Given the description of an element on the screen output the (x, y) to click on. 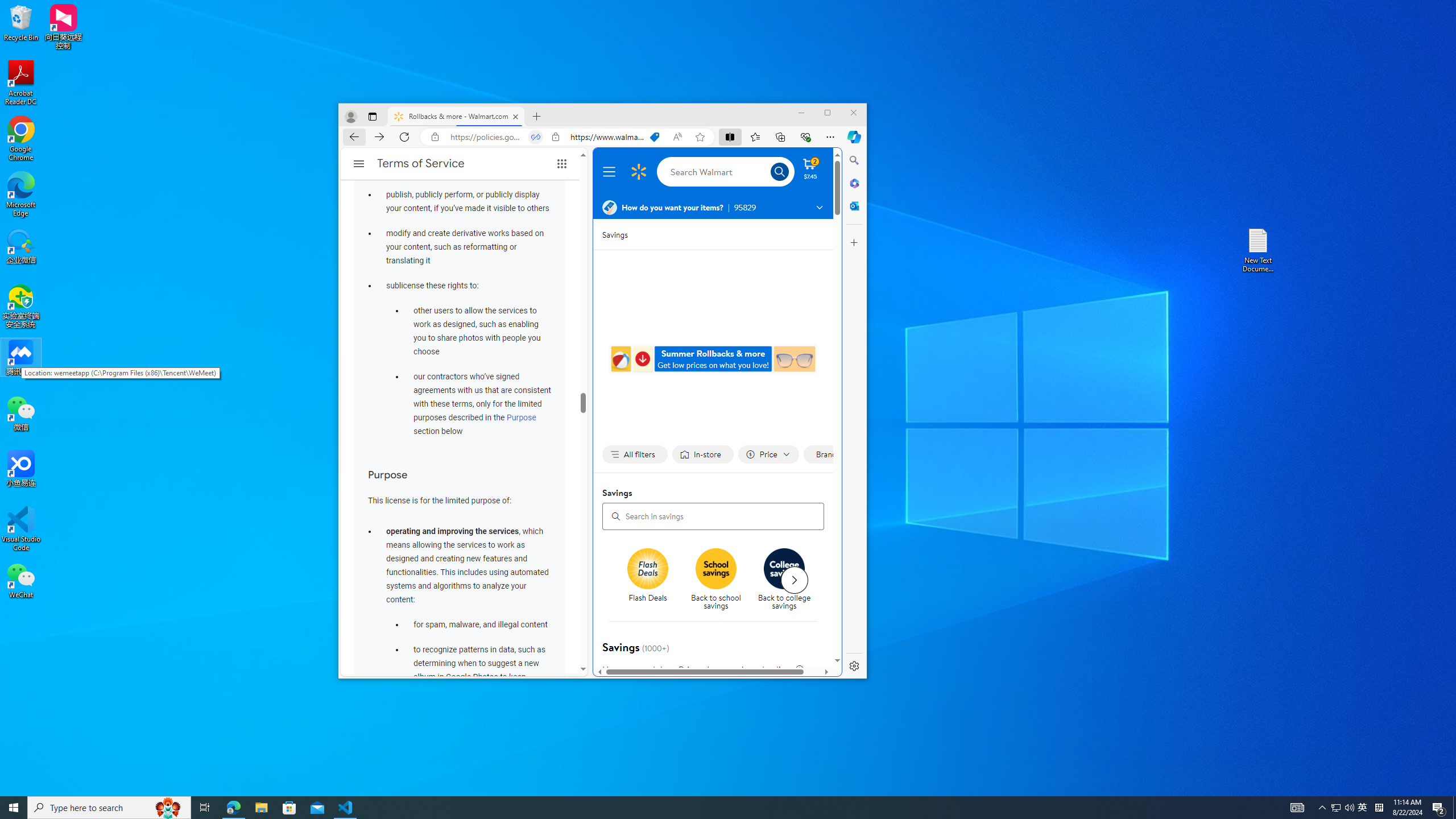
Google Chrome (21, 138)
Acrobat Reader DC (21, 82)
Microsoft Edge (21, 194)
Recycle Bin (21, 22)
New Text Document (489, 194)
Visual Studio Code (21, 528)
New Text Document (2) (1258, 250)
WeChat (21, 580)
